Given the description of an element on the screen output the (x, y) to click on. 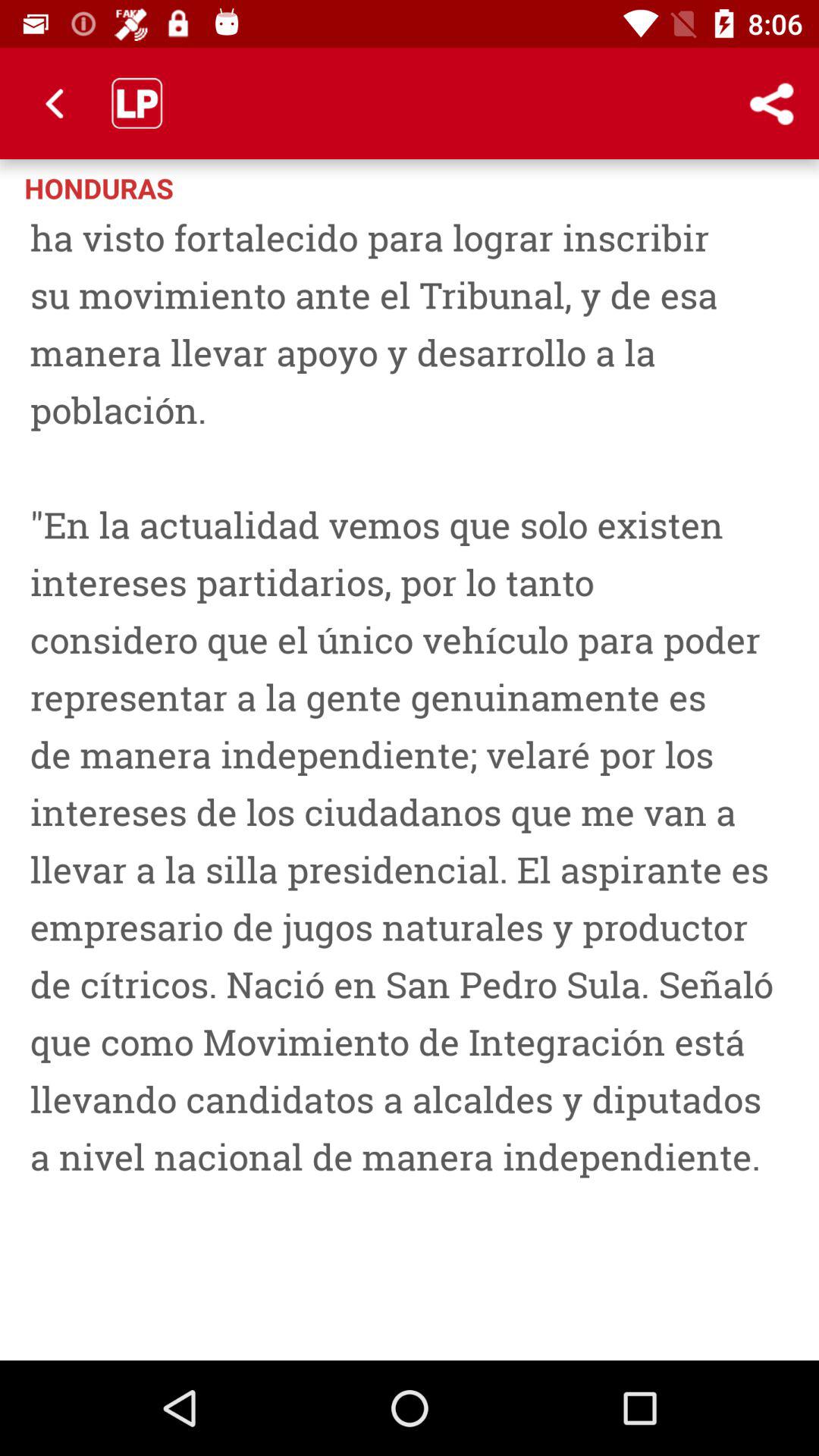
open the icon to the right of the honduras (771, 103)
